Given the description of an element on the screen output the (x, y) to click on. 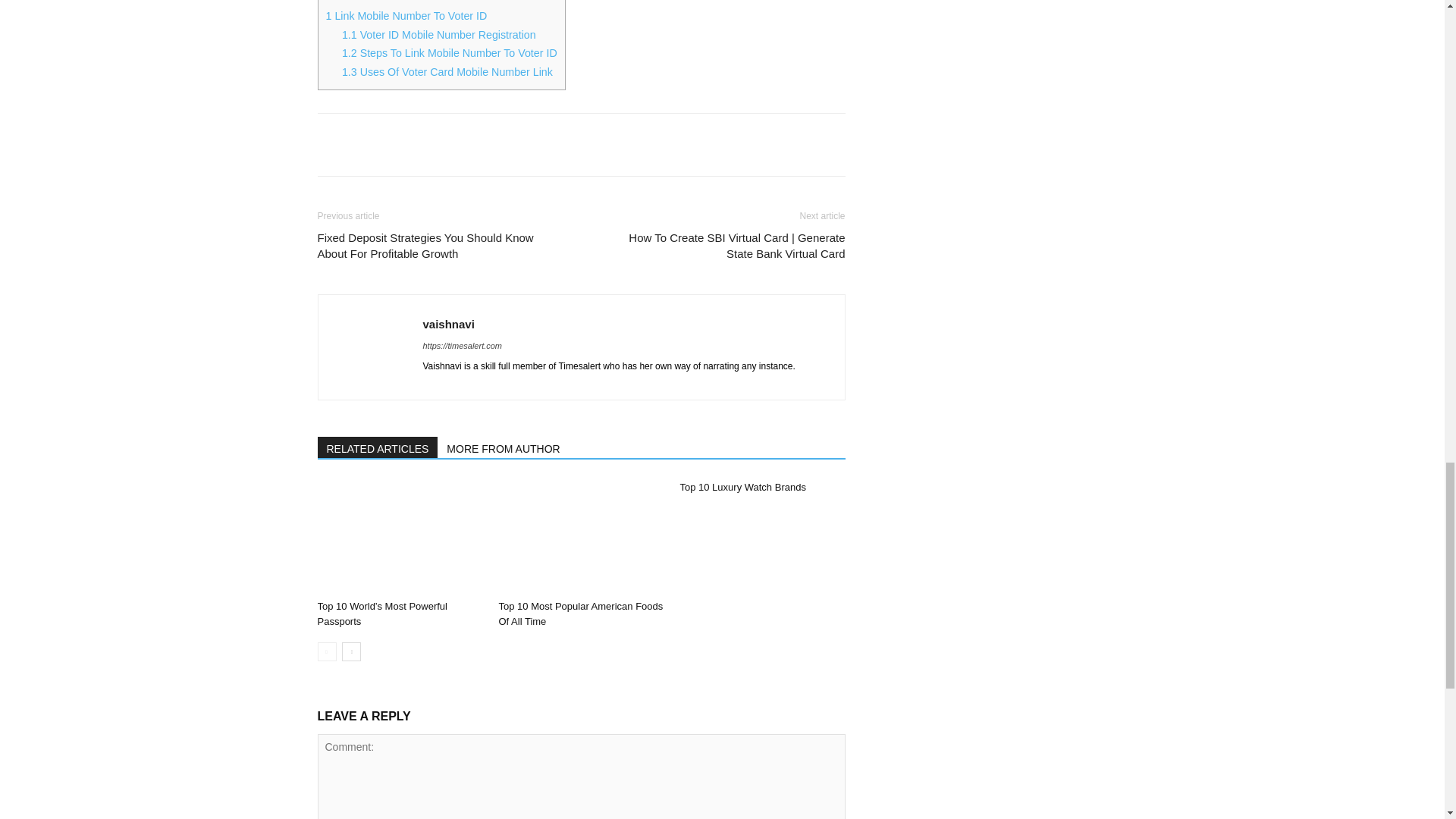
1 Link Mobile Number To Voter ID (406, 15)
1.3 Uses Of Voter Card Mobile Number Link (447, 71)
1.1 Voter ID Mobile Number Registration (438, 34)
1.2 Steps To Link Mobile Number To Voter ID (449, 52)
